Given the description of an element on the screen output the (x, y) to click on. 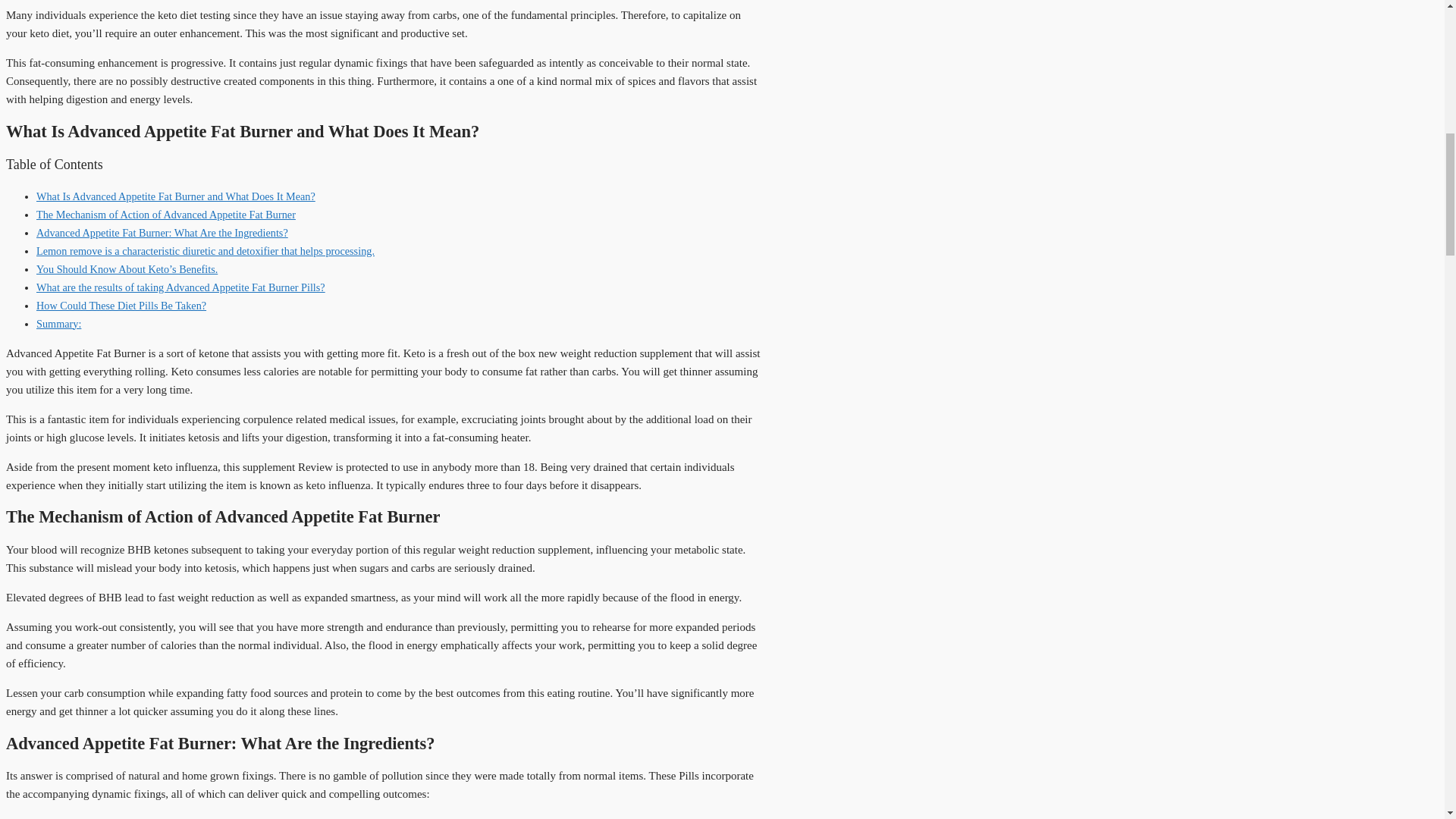
The Mechanism of Action of Advanced Appetite Fat Burner (165, 214)
How Could These Diet Pills Be Taken? (121, 305)
Summary: (58, 323)
Advanced Appetite Fat Burner: What Are the Ingredients? (162, 232)
What Is Advanced Appetite Fat Burner and What Does It Mean? (175, 196)
